Given the description of an element on the screen output the (x, y) to click on. 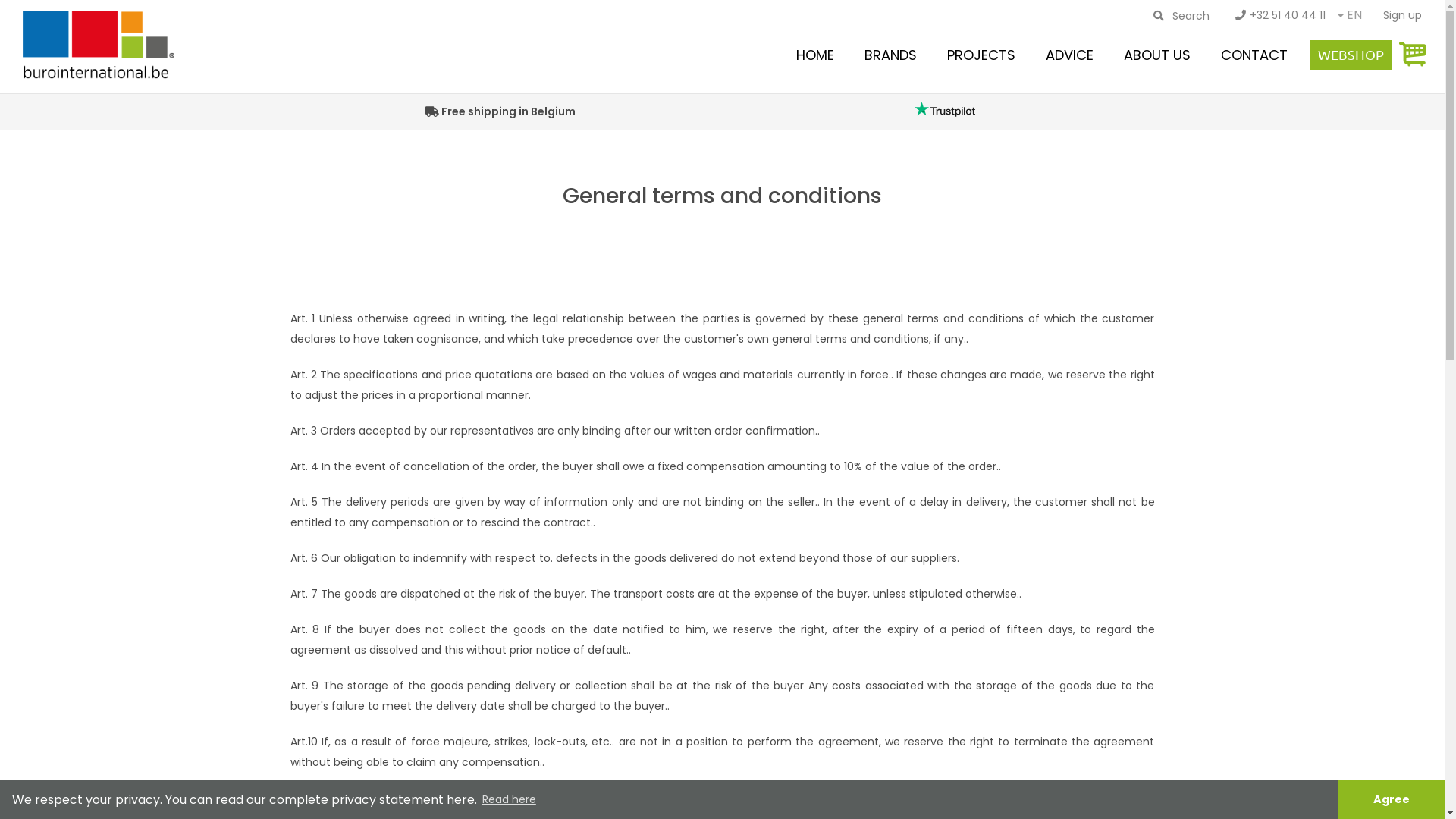
WEBSHOP Element type: text (1350, 54)
HOME Element type: text (814, 54)
ADVICE Element type: text (1069, 54)
Read here Element type: text (509, 799)
+32 51 40 44 11 Element type: text (1279, 15)
EN Element type: text (1353, 16)
Sign up Element type: text (1402, 15)
BRANDS Element type: text (890, 54)
ABOUT US Element type: text (1157, 54)
PROJECTS Element type: text (980, 54)
CONTACT Element type: text (1254, 54)
Customer reviews powered by Trustpilot Element type: hover (944, 108)
